Given the description of an element on the screen output the (x, y) to click on. 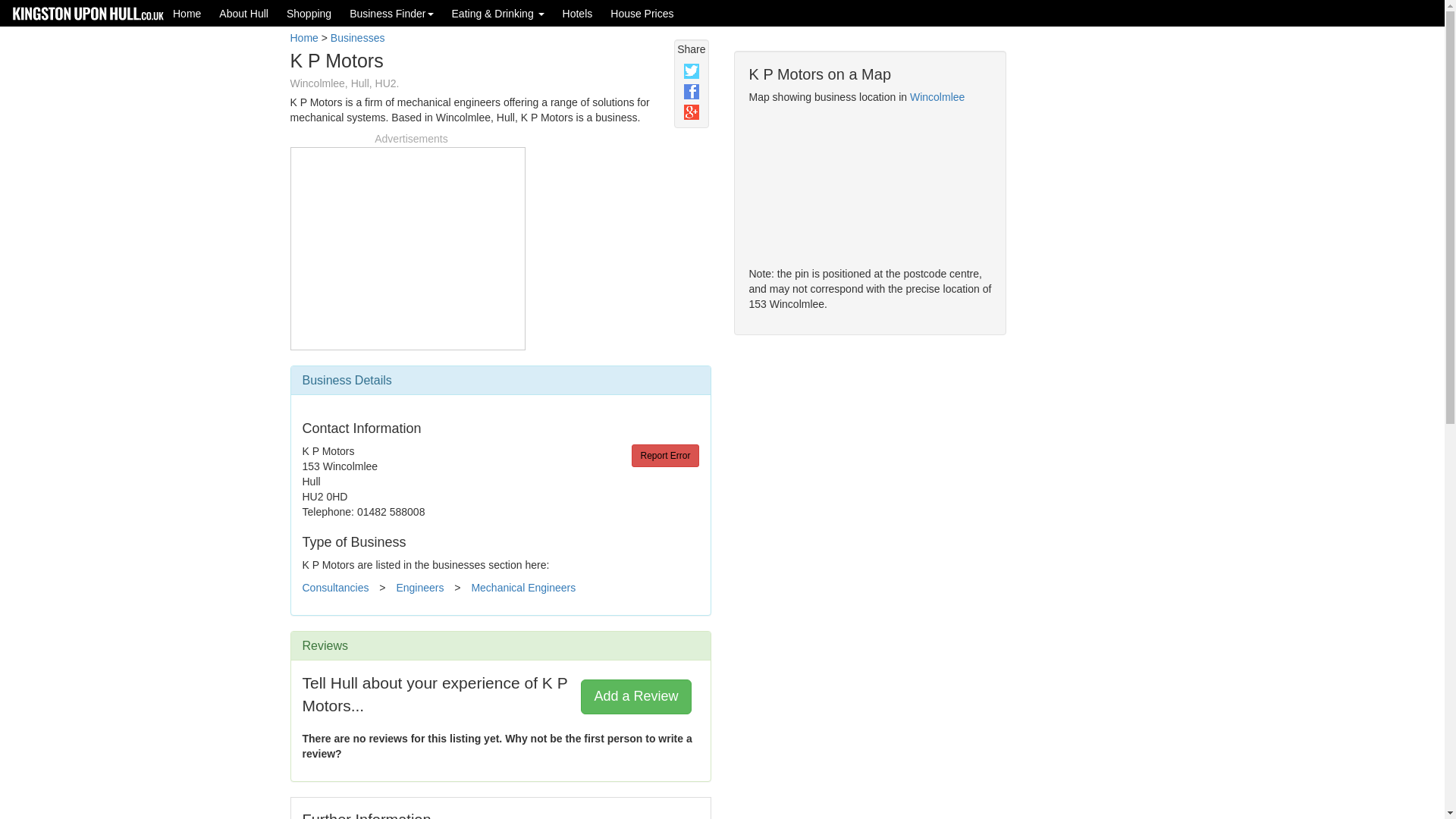
Business Finder (391, 12)
Consultancies (334, 587)
Businesses (357, 37)
House Prices (641, 12)
Home (186, 12)
Hotels (577, 12)
Report Error (664, 455)
Report Error (664, 455)
Shopping (309, 12)
Advertisement (407, 246)
Home (303, 37)
Engineers (420, 587)
Mechanical Engineers (522, 587)
Add a Review (635, 696)
Wincolmlee (936, 96)
